Given the description of an element on the screen output the (x, y) to click on. 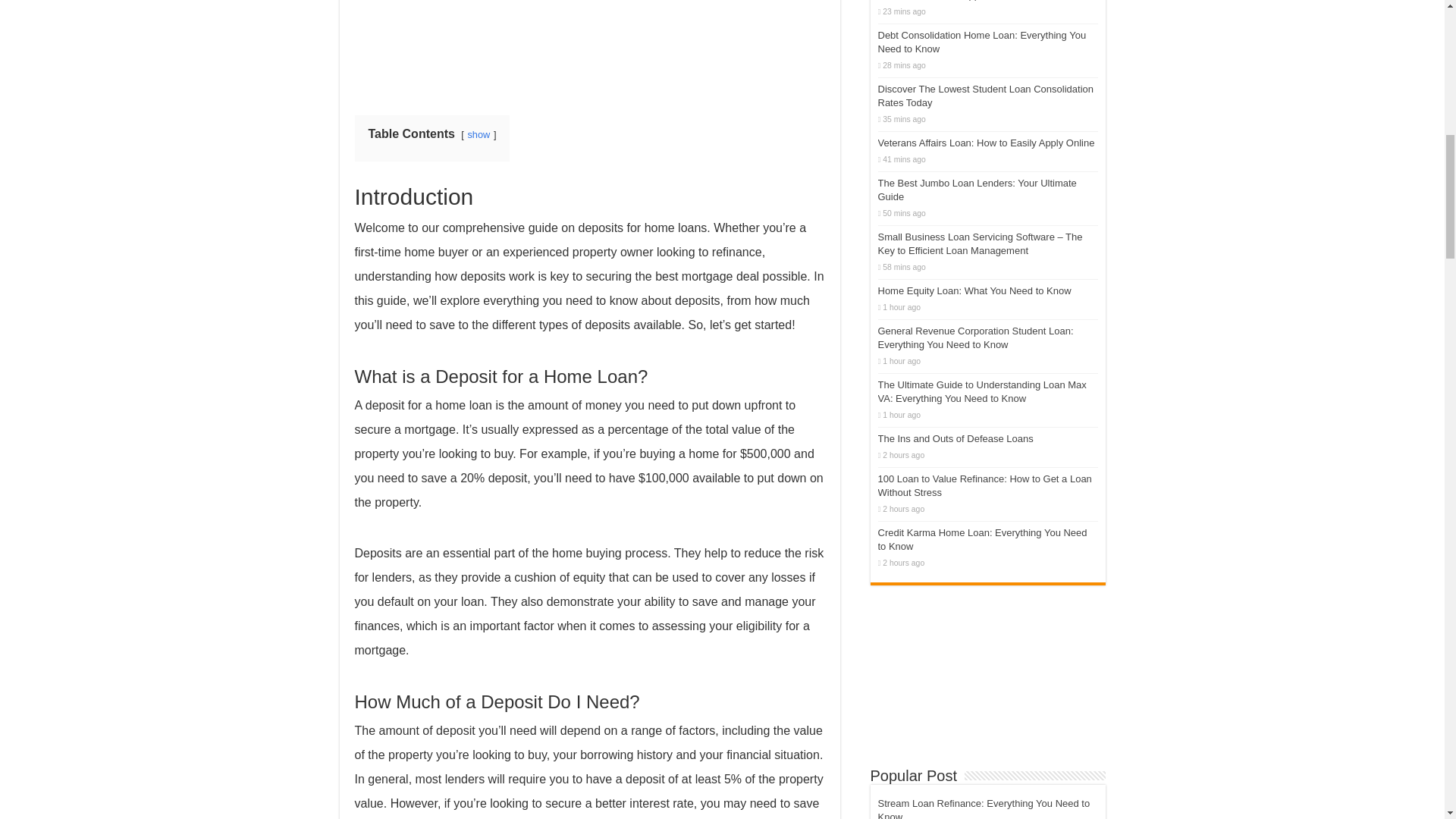
Debt Consolidation Home Loan: Everything You Need to Know (981, 41)
Advertisement (987, 668)
show (478, 134)
Advertisement (590, 45)
